Given the description of an element on the screen output the (x, y) to click on. 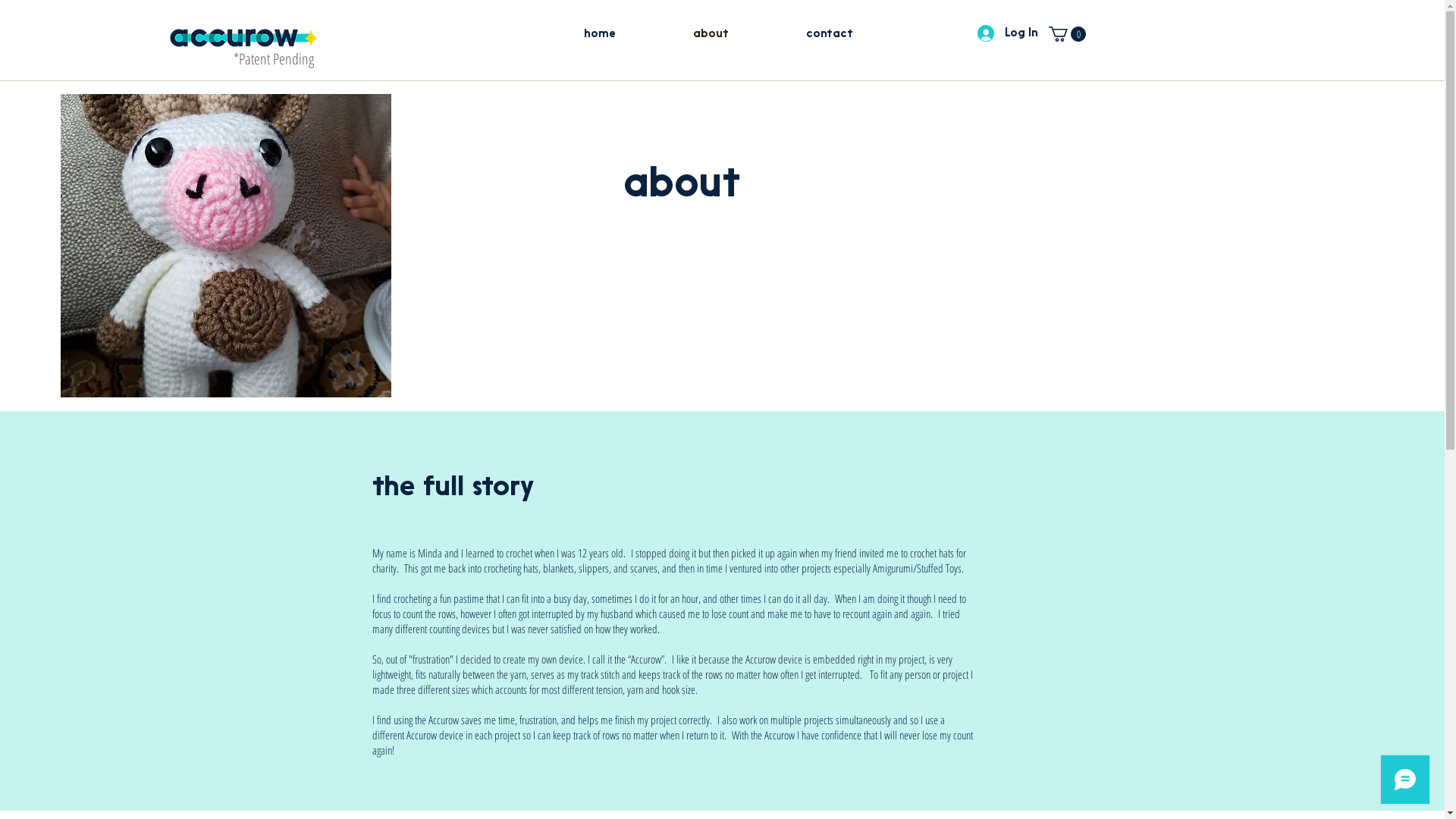
home Element type: text (599, 34)
0 Element type: text (1066, 33)
about Element type: text (710, 34)
contact Element type: text (829, 34)
Log In Element type: text (1007, 33)
